Given the description of an element on the screen output the (x, y) to click on. 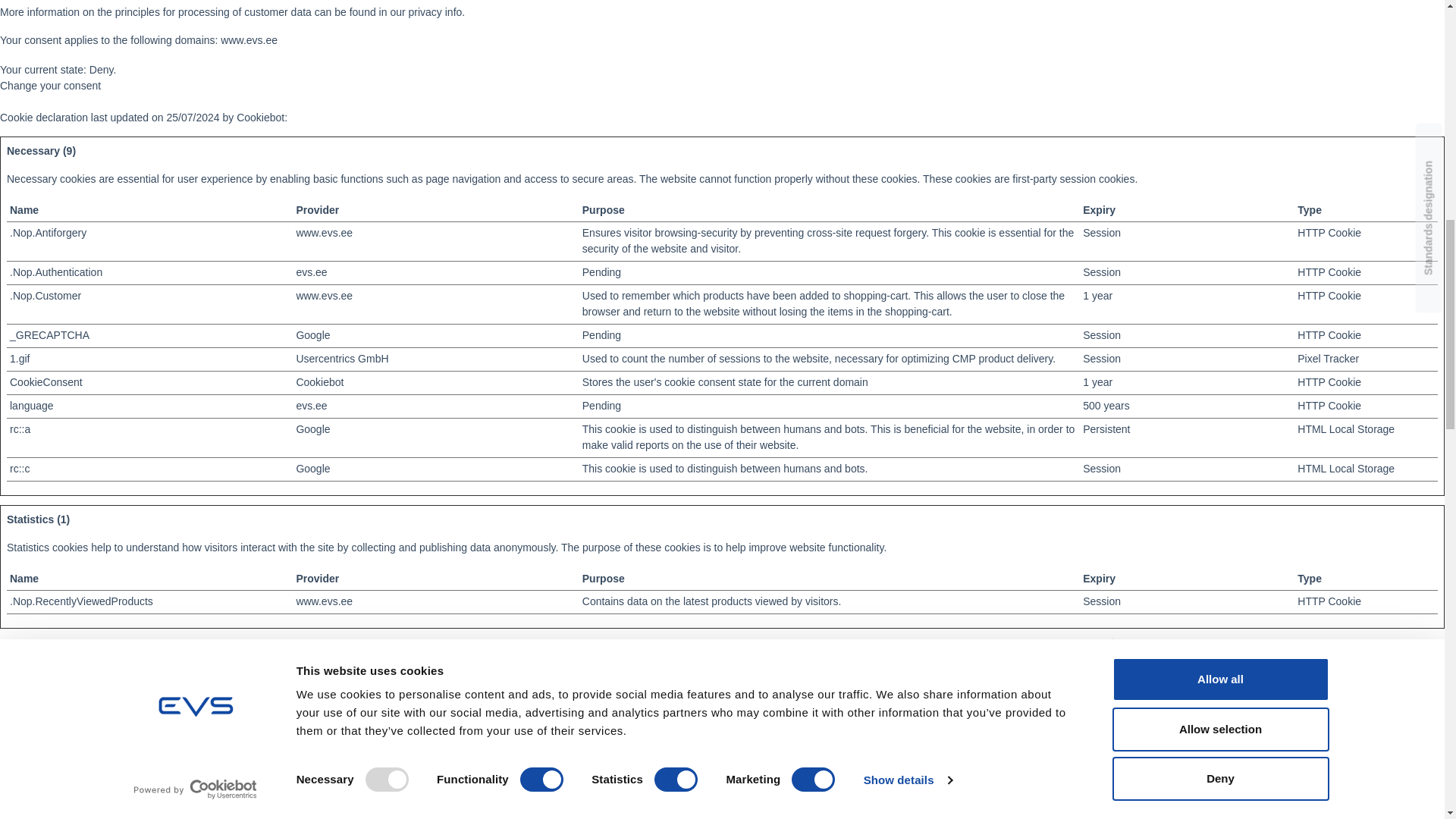
Change your consent (50, 85)
Google (312, 468)
Google's privacy policy (312, 468)
Google (312, 428)
Usercentrics GmbH (341, 358)
Cookiebot (259, 117)
Cookiebot's privacy policy (319, 381)
Google (312, 335)
Google's privacy policy (312, 335)
Cookiebot (319, 381)
Shopping cart (1241, 719)
Cookiebot (259, 117)
Google's privacy policy (312, 428)
Usercentrics GmbH's privacy policy (341, 358)
privacy info (436, 11)
